Given the description of an element on the screen output the (x, y) to click on. 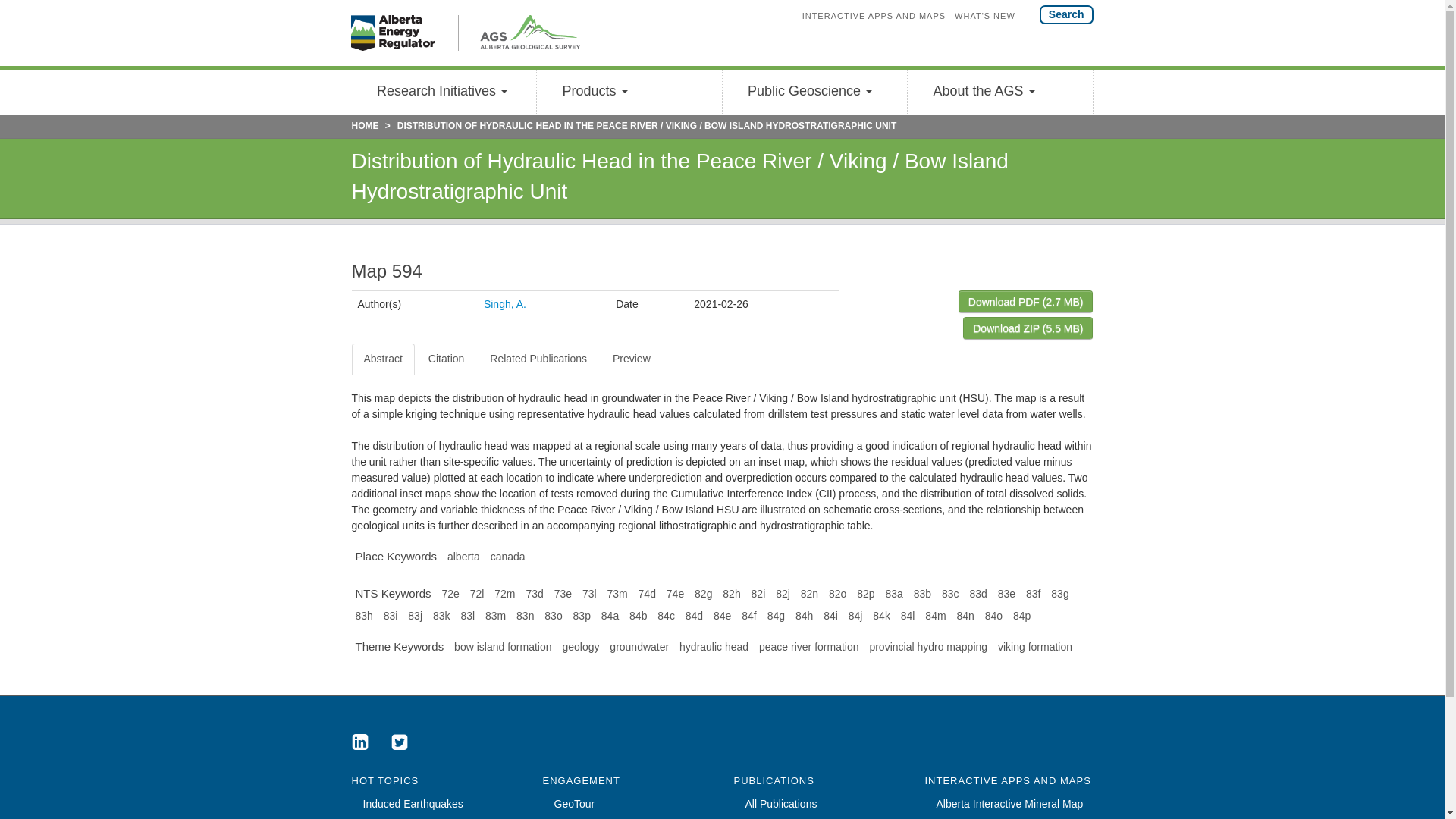
Alberta Geological Survey (518, 32)
Search (1066, 14)
Alberta Energy Regulator (404, 32)
WHAT'S NEW (990, 15)
Skip to main content (8, 9)
INTERACTIVE APPS AND MAPS (878, 15)
Research Initiatives (444, 91)
